Given the description of an element on the screen output the (x, y) to click on. 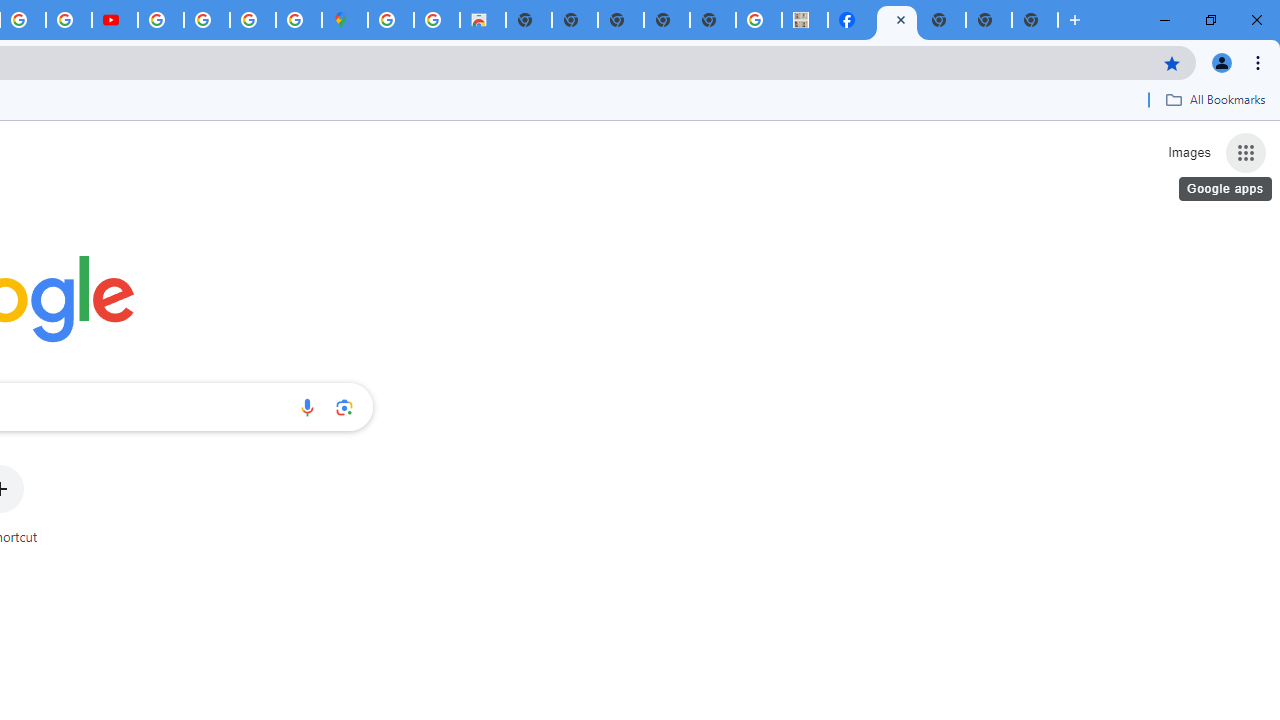
Miley Cyrus | Facebook (851, 20)
Google Maps (345, 20)
